Given the description of an element on the screen output the (x, y) to click on. 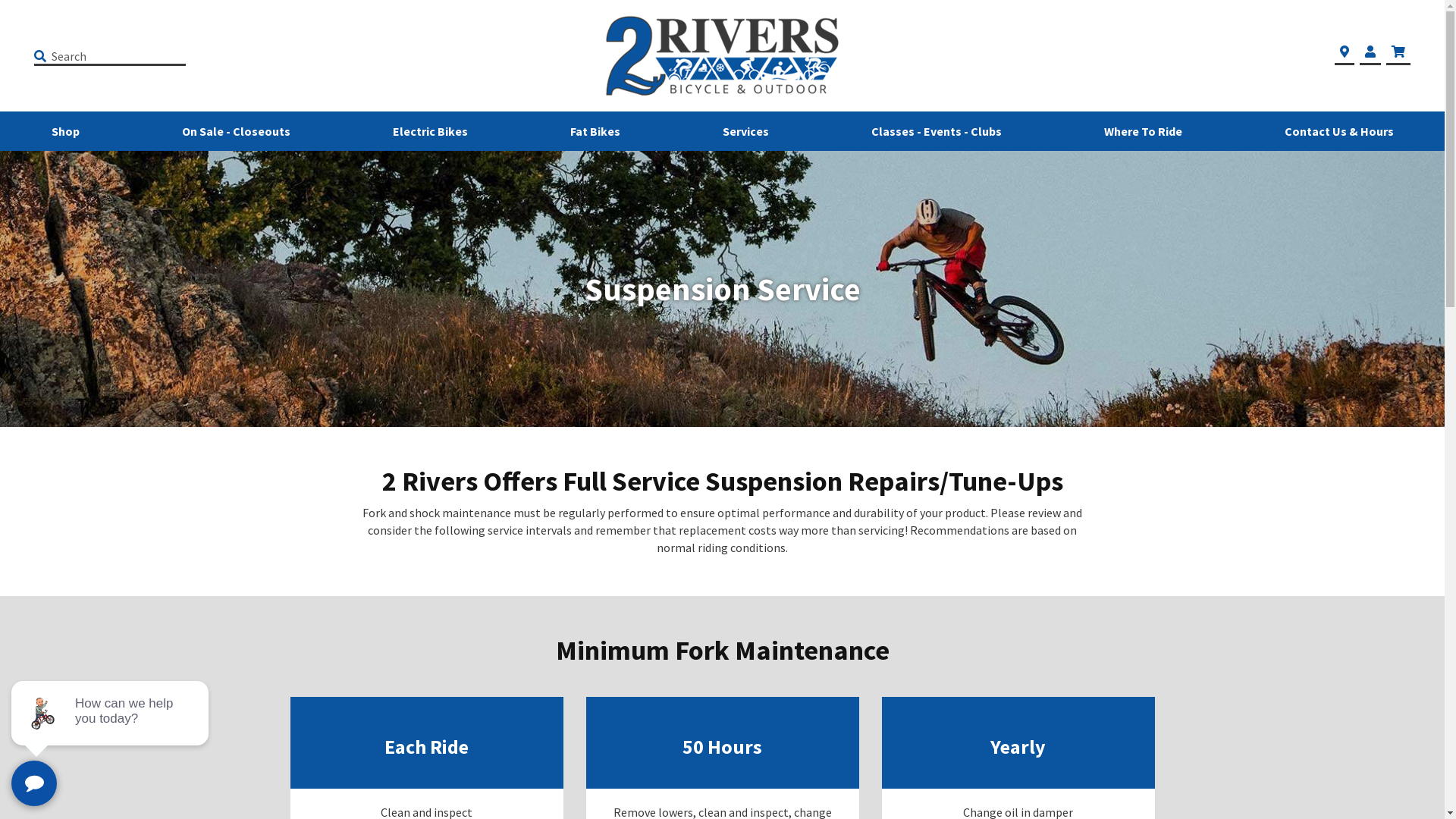
Contact Us & Hours Element type: text (1338, 130)
Store Element type: text (1344, 51)
Electric Bikes Element type: text (430, 130)
Cart Element type: text (1398, 51)
Account Element type: text (1370, 51)
Where To Ride Element type: text (1142, 130)
Search Element type: hover (100, 55)
Services Element type: text (744, 130)
Classes - Events - Clubs Element type: text (935, 130)
Fat Bikes Element type: text (595, 130)
Search Element type: text (43, 55)
On Sale - Closeouts Element type: text (235, 130)
Shop Element type: text (65, 130)
2 Rivers Bicycle and Outdoor Home Page Element type: hover (721, 55)
